Given the description of an element on the screen output the (x, y) to click on. 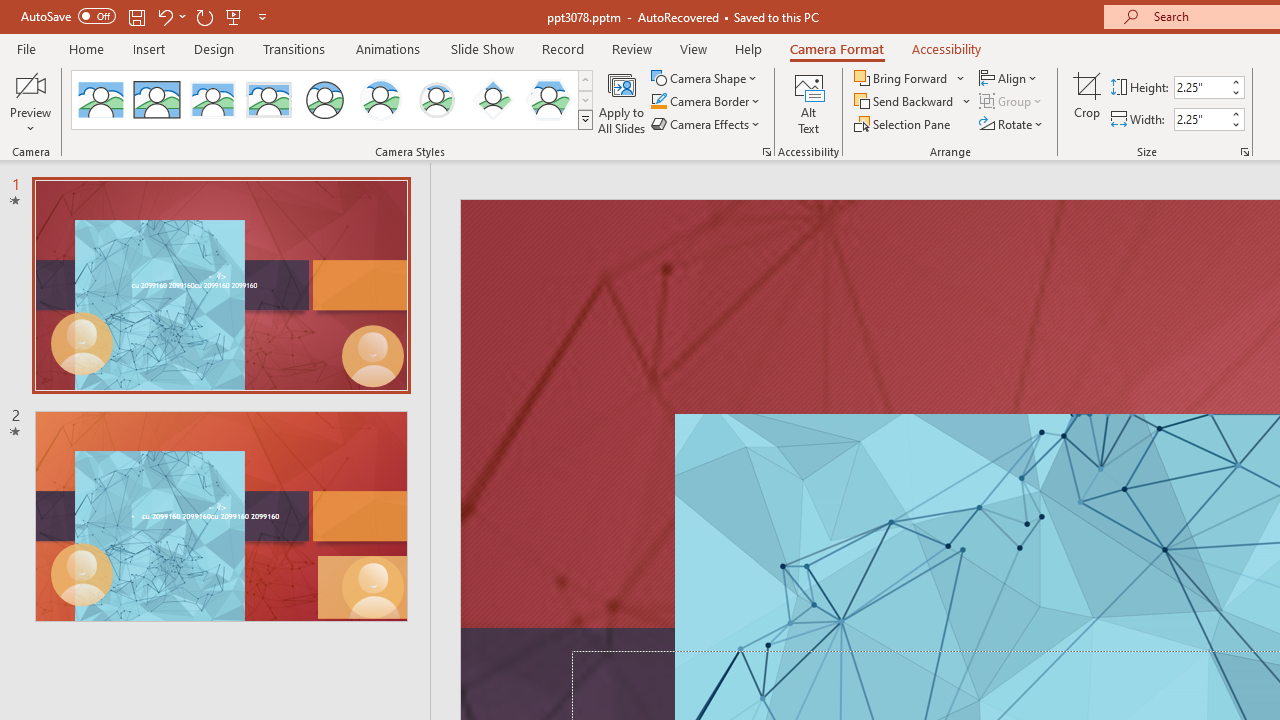
Cameo Height (1201, 87)
Simple Frame Rectangle (157, 100)
Camera Effects (706, 124)
Camera Styles (585, 120)
Camera Shape (705, 78)
AutomationID: CameoStylesGallery (333, 99)
Rotate (1012, 124)
